Given the description of an element on the screen output the (x, y) to click on. 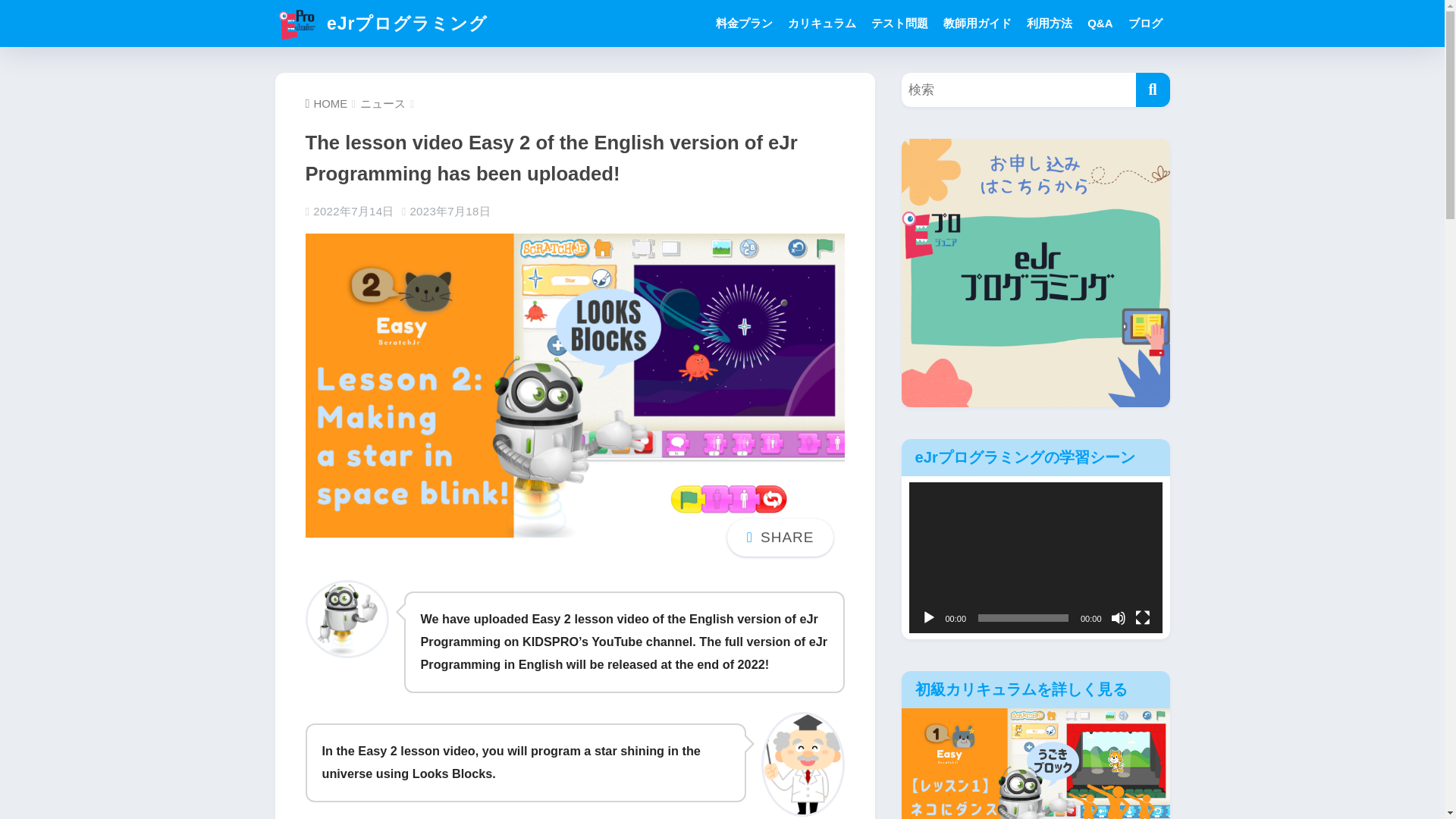
eJr Programming (623, 652)
HOME (325, 103)
